Given the description of an element on the screen output the (x, y) to click on. 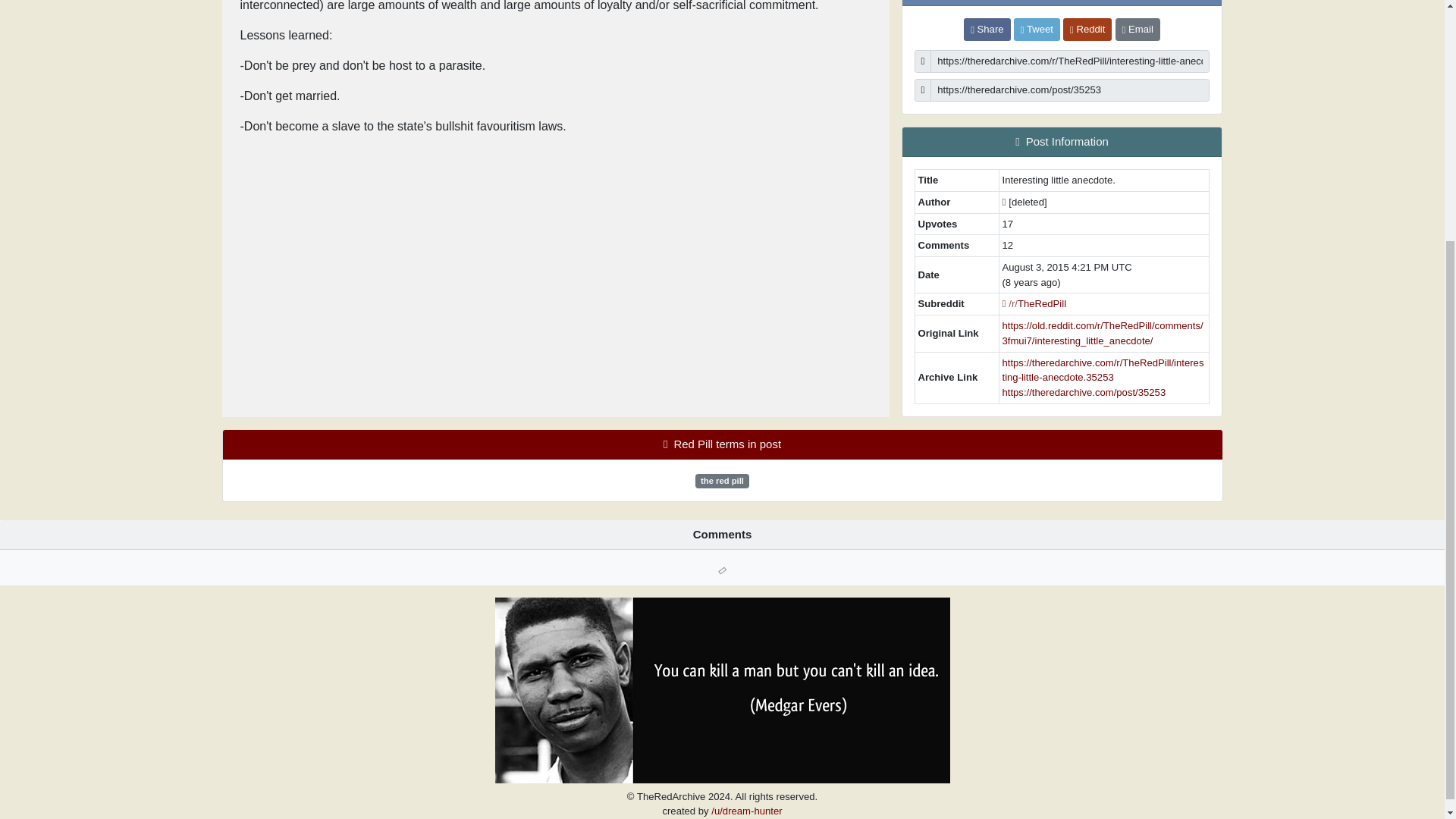
Email this post (1137, 29)
Tweet this post (1036, 29)
Share this post on Facebook (986, 29)
Share this post on Reddit (1087, 29)
